Given the description of an element on the screen output the (x, y) to click on. 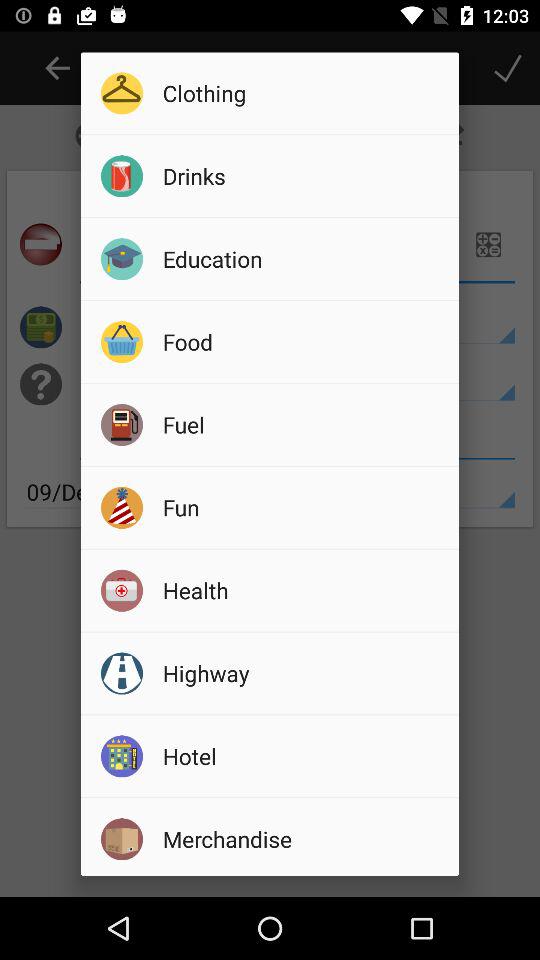
press icon below fun icon (303, 590)
